Given the description of an element on the screen output the (x, y) to click on. 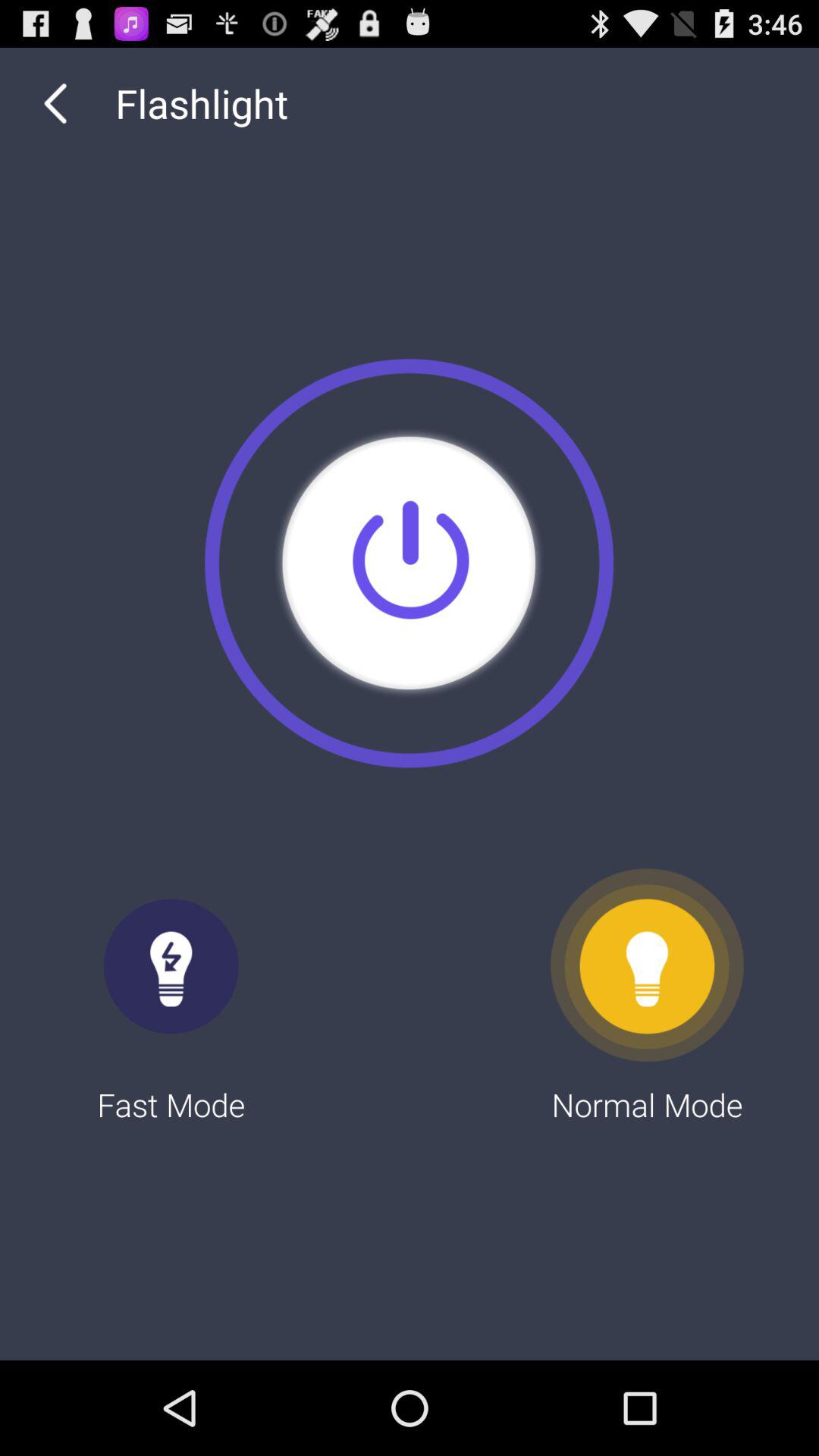
launch normal mode at the bottom right corner (647, 996)
